Given the description of an element on the screen output the (x, y) to click on. 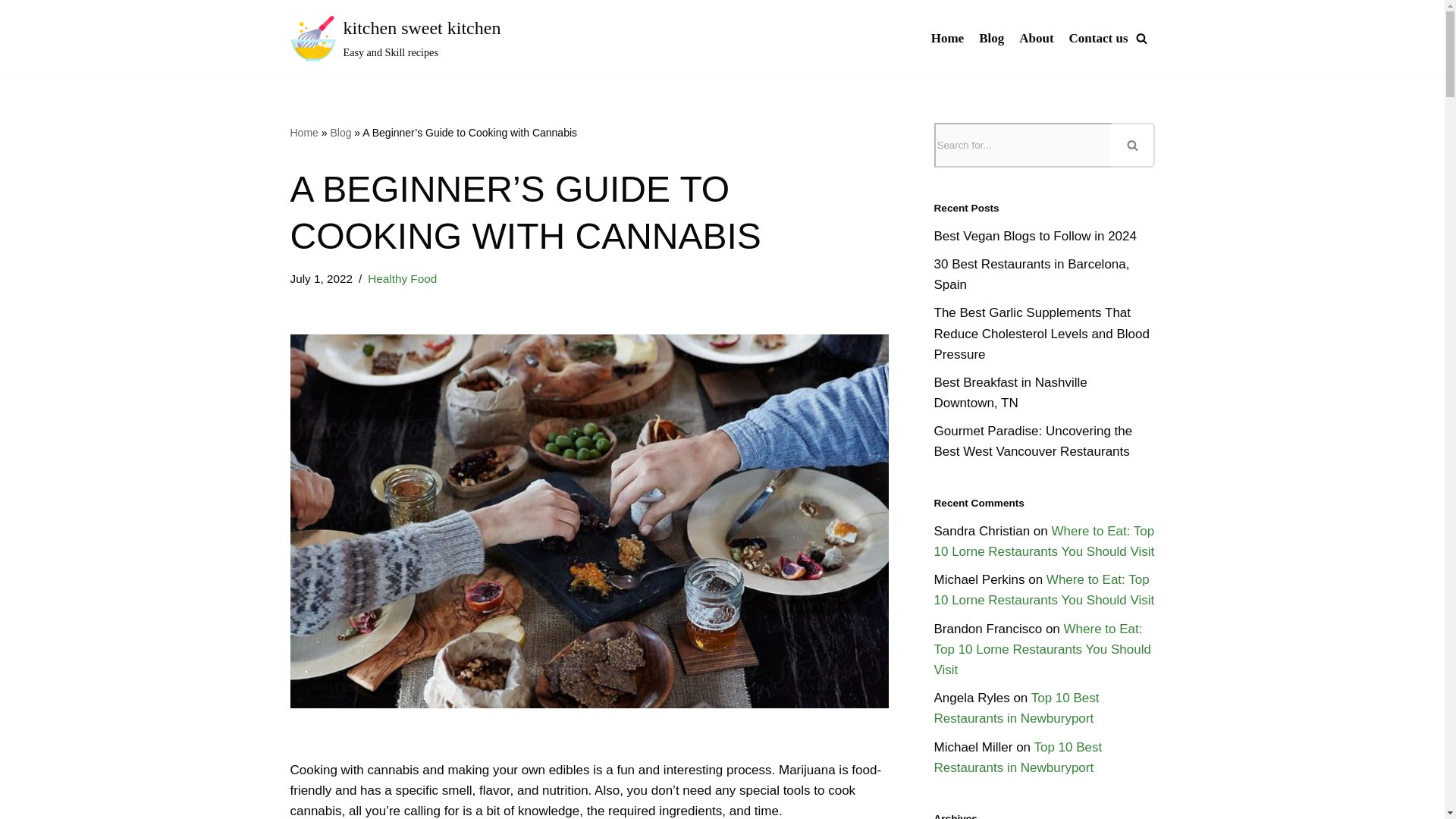
Home (947, 37)
kitchen sweet kitchen (394, 38)
Blog (340, 132)
Healthy Food (402, 278)
Skip to content (11, 31)
Contact us (1098, 37)
About (1035, 37)
Home (303, 132)
Blog (394, 38)
